Given the description of an element on the screen output the (x, y) to click on. 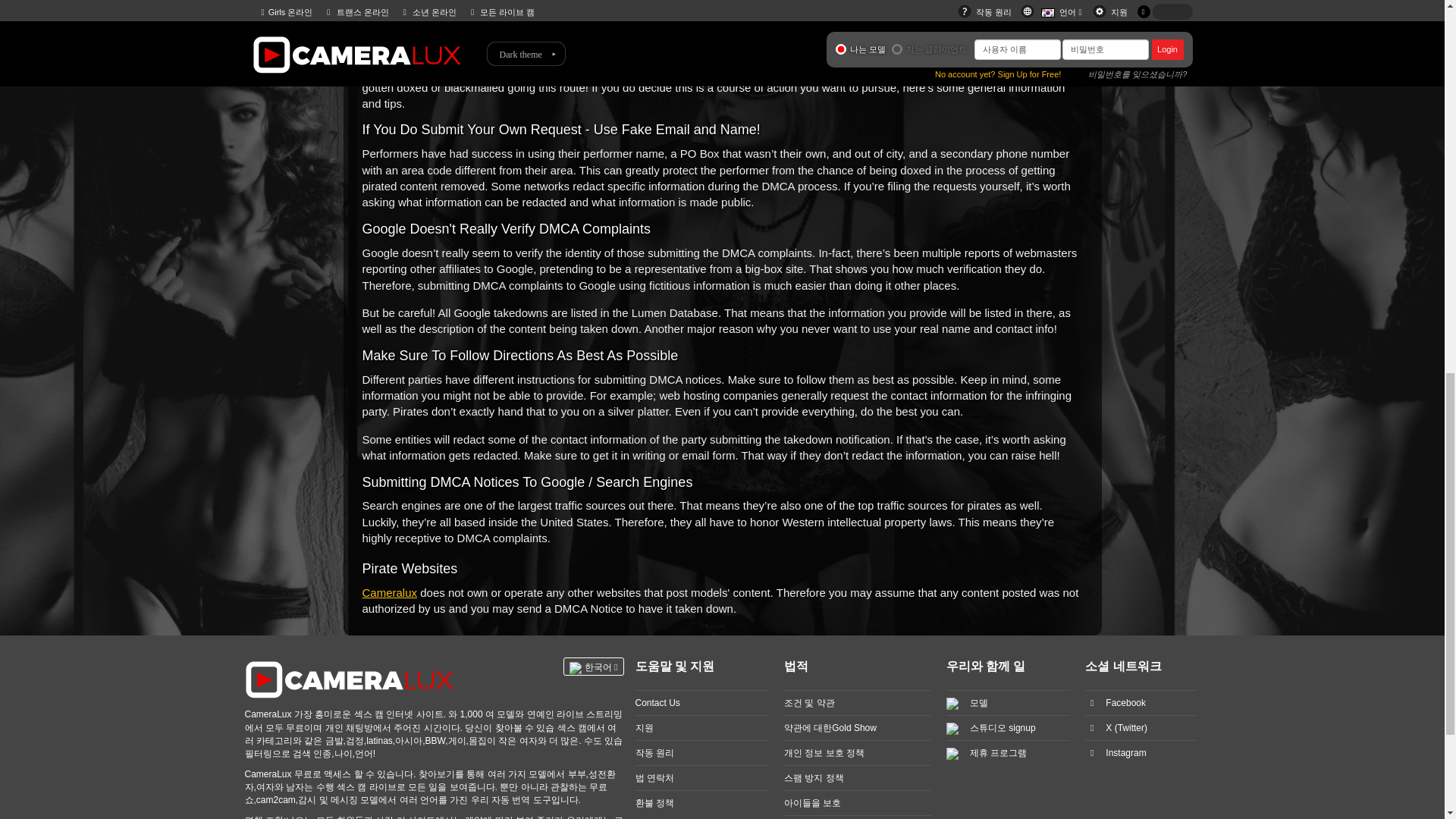
Cameralux (389, 592)
